Given the description of an element on the screen output the (x, y) to click on. 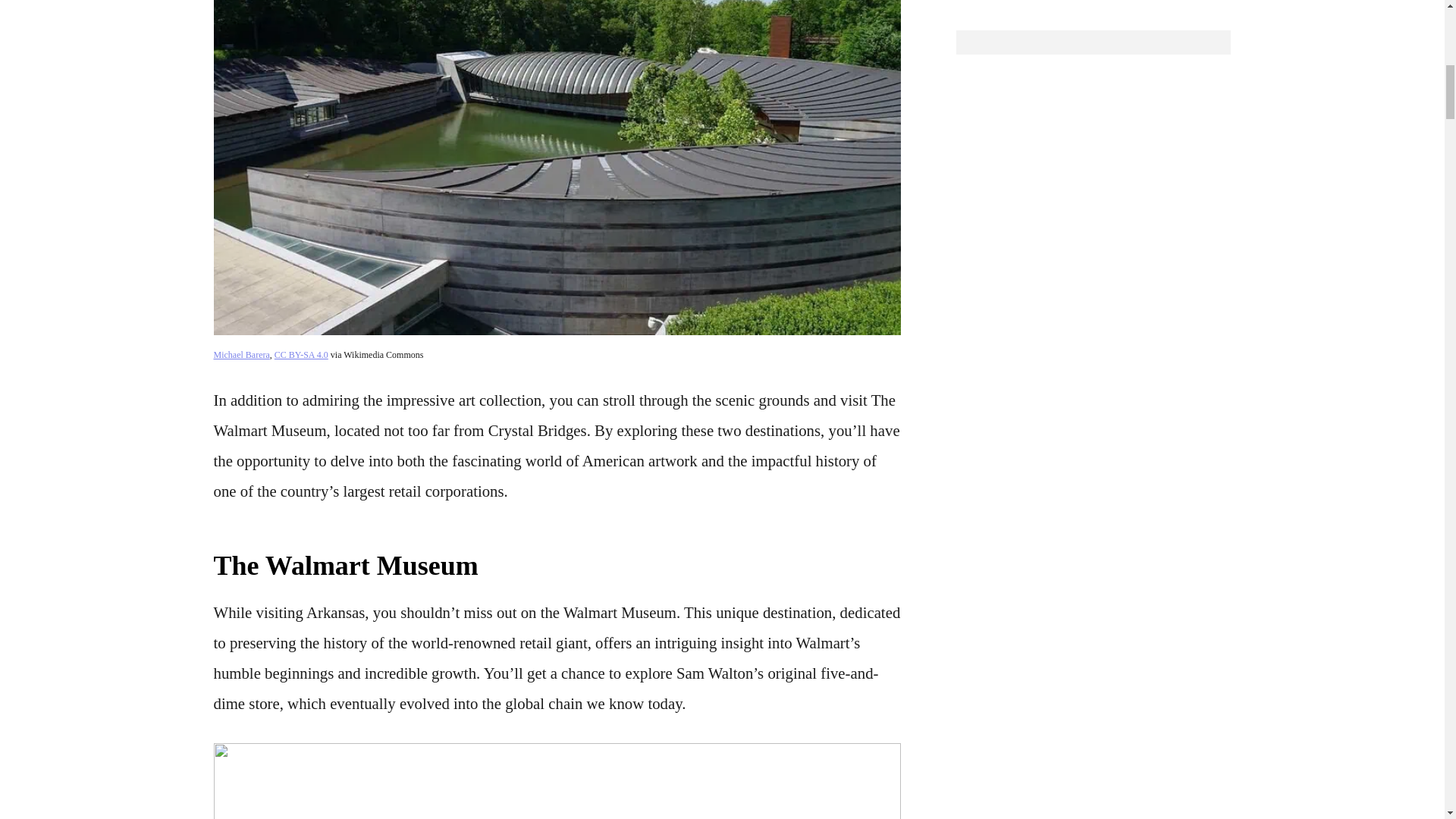
Michael Barera (241, 354)
CC BY-SA 4.0 (302, 354)
